Given the description of an element on the screen output the (x, y) to click on. 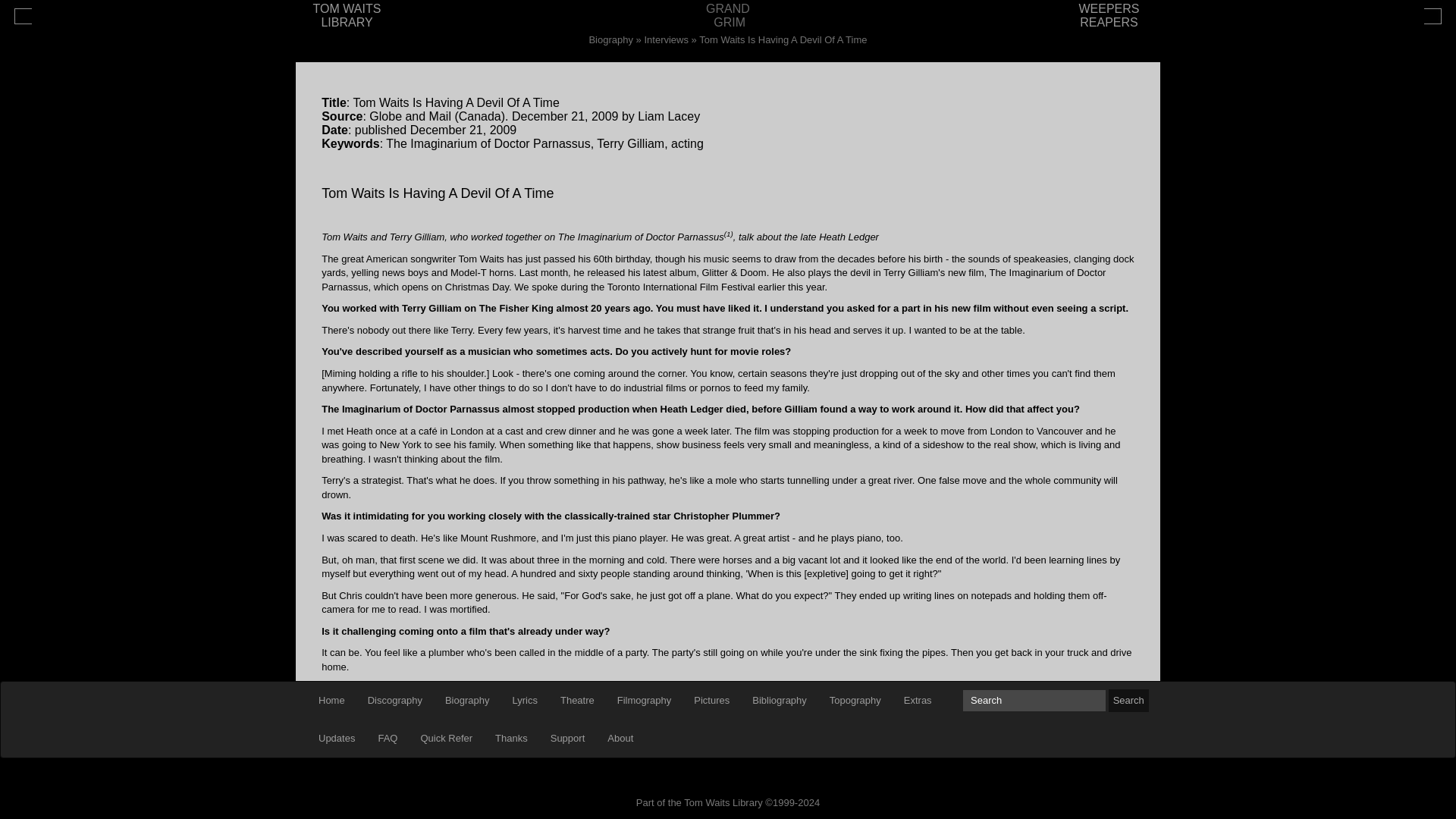
Tom Waits Is Having A Devil Of A Time (782, 39)
Dreams: the Terry Gilliam fanzine (762, 781)
Parnassus official site (637, 781)
Interviews (665, 39)
Search (1128, 700)
Biography (466, 700)
Biography (610, 39)
Discography (394, 700)
Search (1128, 700)
Search (1033, 700)
Home (331, 700)
Search (1033, 700)
Doctor Parnassus support site (907, 781)
